Given the description of an element on the screen output the (x, y) to click on. 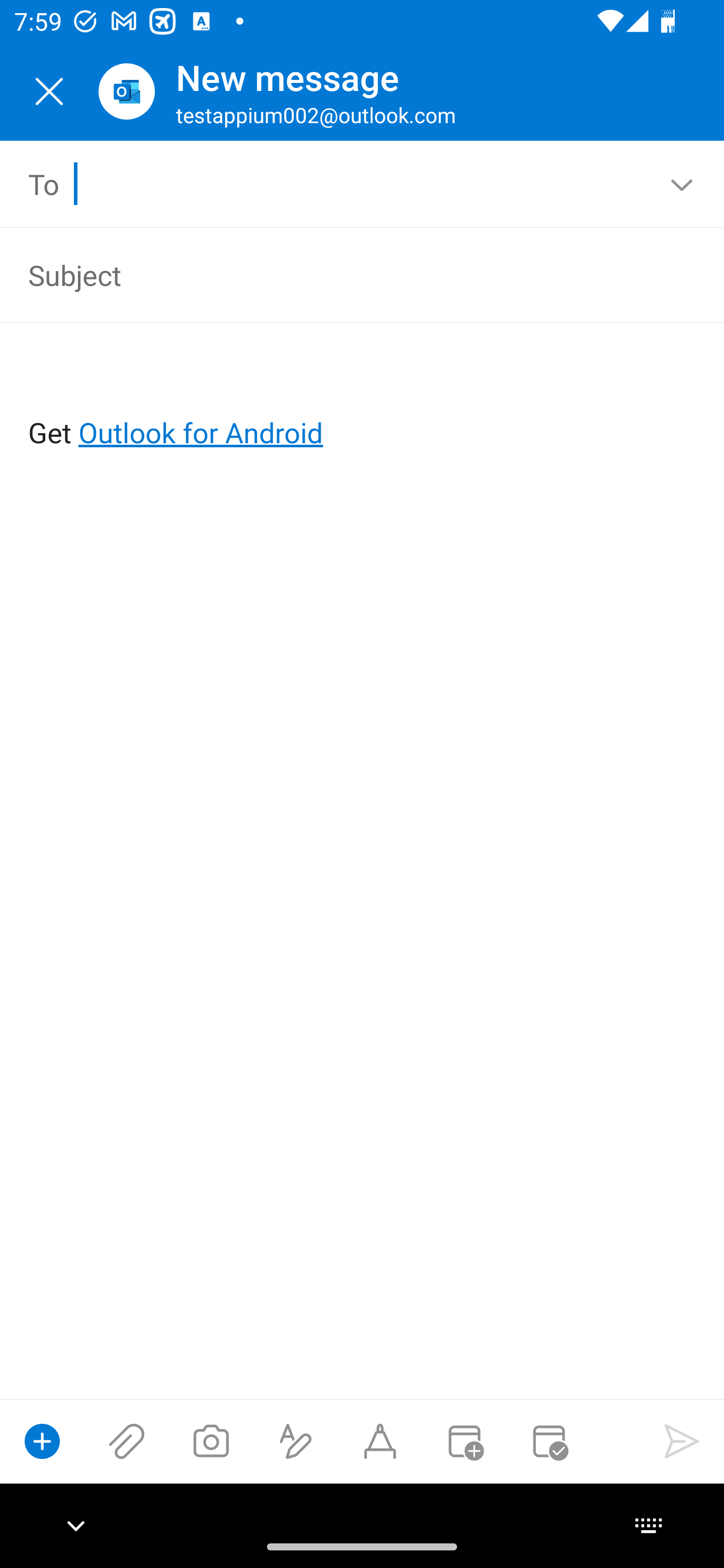
Close (49, 91)
Subject (333, 274)
Show compose options (42, 1440)
Attach files (126, 1440)
Take a photo (210, 1440)
Show formatting options (295, 1440)
Start Ink compose (380, 1440)
Convert to event (464, 1440)
Send availability (548, 1440)
Send (681, 1440)
